Given the description of an element on the screen output the (x, y) to click on. 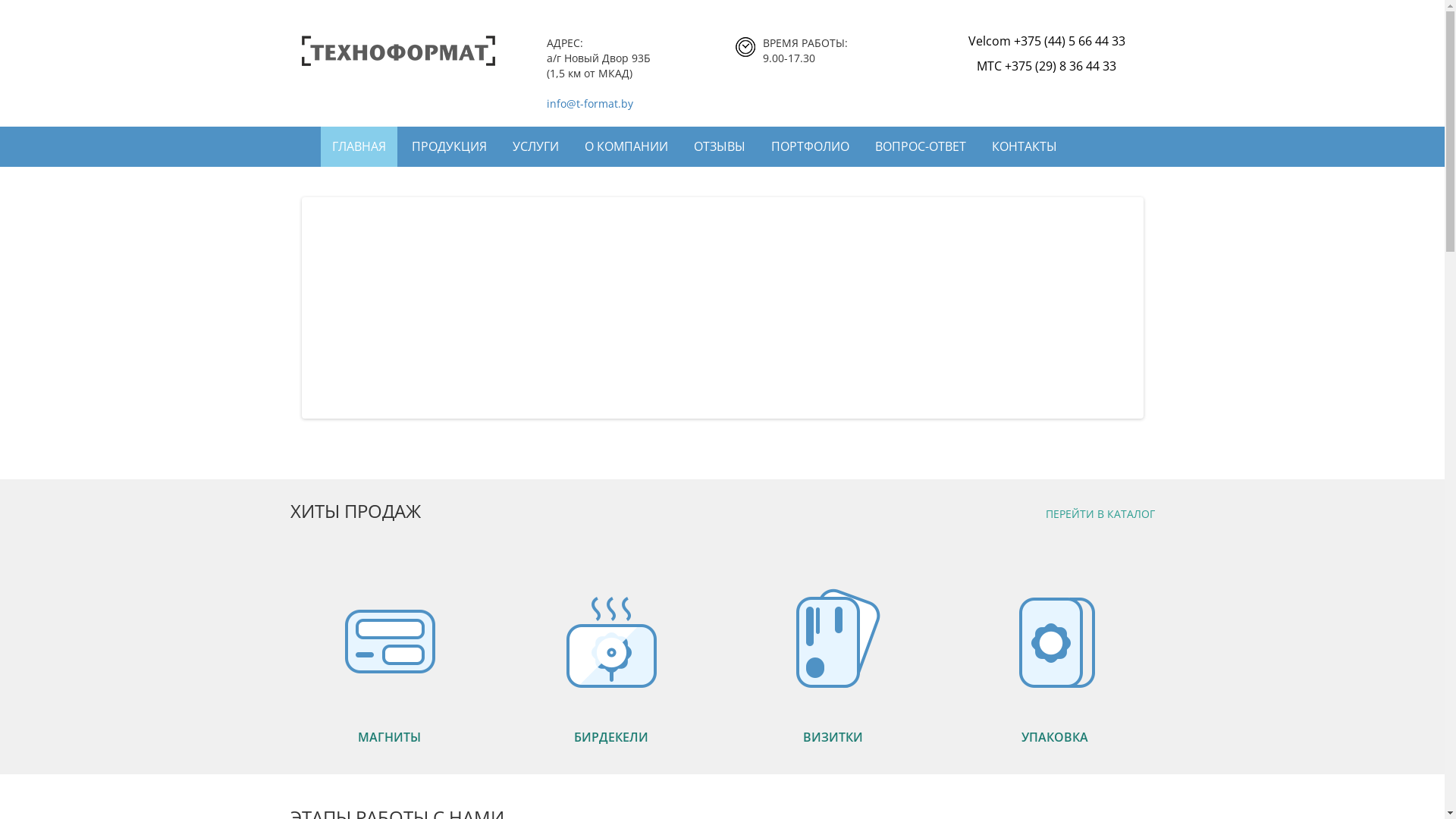
info@t-format.by Element type: text (589, 103)
MTC +375 (29) 8 36 44 33 Element type: text (1045, 65)
Velcom +375 (44) 5 66 44 33 Element type: text (1045, 40)
